Given the description of an element on the screen output the (x, y) to click on. 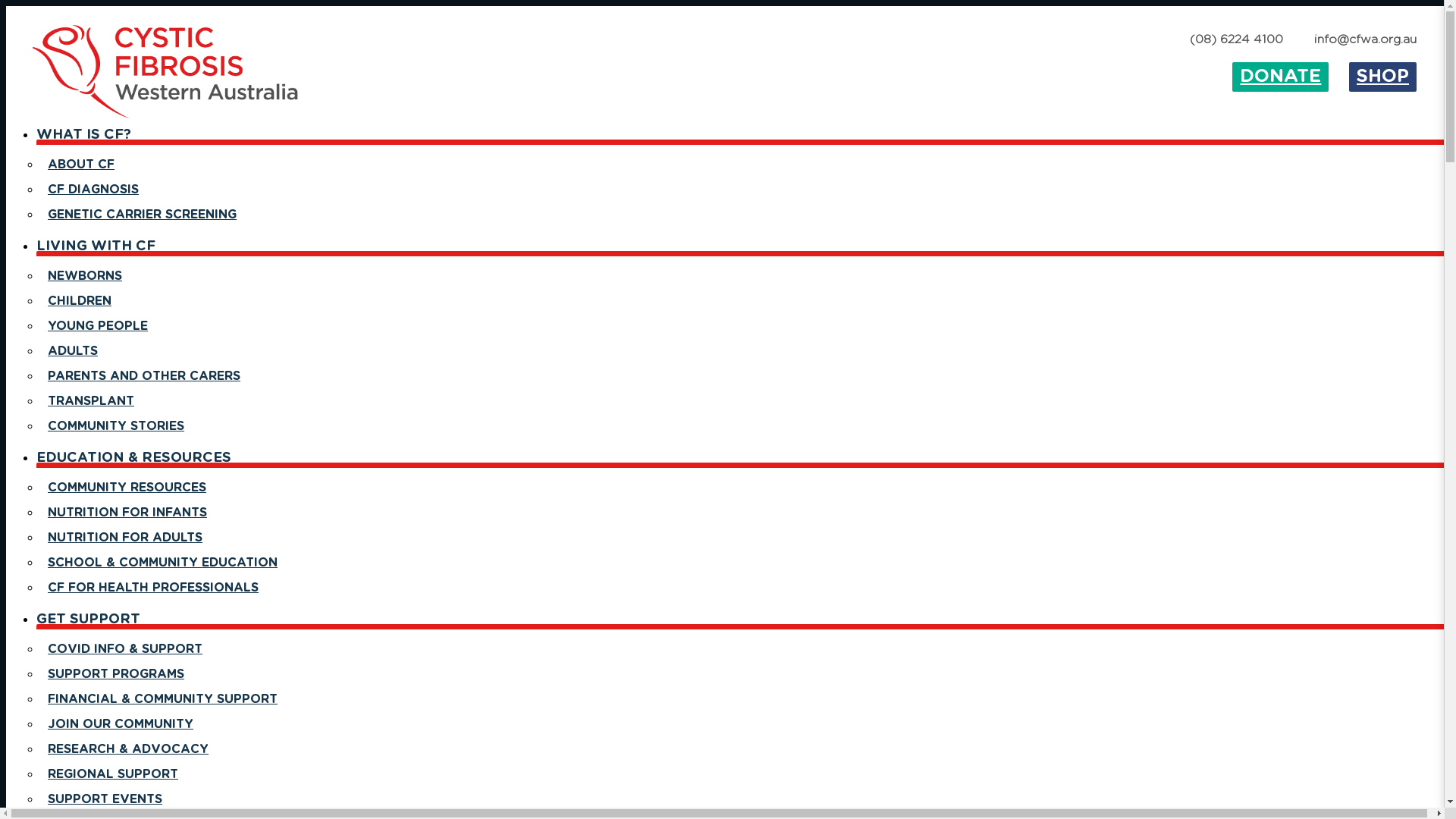
TRANSPLANT Element type: text (90, 401)
NUTRITION FOR INFANTS Element type: text (127, 512)
CF DIAGNOSIS Element type: text (92, 189)
FINANCIAL & COMMUNITY SUPPORT Element type: text (162, 699)
CHILDREN Element type: text (79, 300)
The Cystic Fibrosis Western Australia logo Element type: hover (165, 72)
PARENTS AND OTHER CARERS Element type: text (143, 376)
GET SUPPORT Element type: text (90, 624)
SUPPORT EVENTS Element type: text (104, 799)
GENETIC CARRIER SCREENING Element type: text (141, 214)
RESEARCH & ADVOCACY Element type: text (127, 749)
LIVING WITH CF Element type: text (97, 251)
REGIONAL SUPPORT Element type: text (112, 774)
COMMUNITY STORIES Element type: text (115, 426)
SUPPORT PROGRAMS Element type: text (115, 674)
COMMUNITY RESOURCES Element type: text (126, 487)
JOIN OUR COMMUNITY Element type: text (120, 724)
NEWBORNS Element type: text (84, 275)
ABOUT CF Element type: text (80, 164)
EDUCATION & RESOURCES Element type: text (135, 463)
CF FOR HEALTH PROFESSIONALS Element type: text (152, 587)
DONATE Element type: text (1280, 76)
ADULTS Element type: text (72, 351)
COVID INFO & SUPPORT Element type: text (124, 649)
YOUNG PEOPLE Element type: text (97, 326)
info@cfwa.org.au Element type: text (1364, 39)
SCHOOL & COMMUNITY EDUCATION Element type: text (162, 562)
NUTRITION FOR ADULTS Element type: text (124, 537)
SHOP Element type: text (1382, 76)
WHAT IS CF? Element type: text (85, 140)
